Given the description of an element on the screen output the (x, y) to click on. 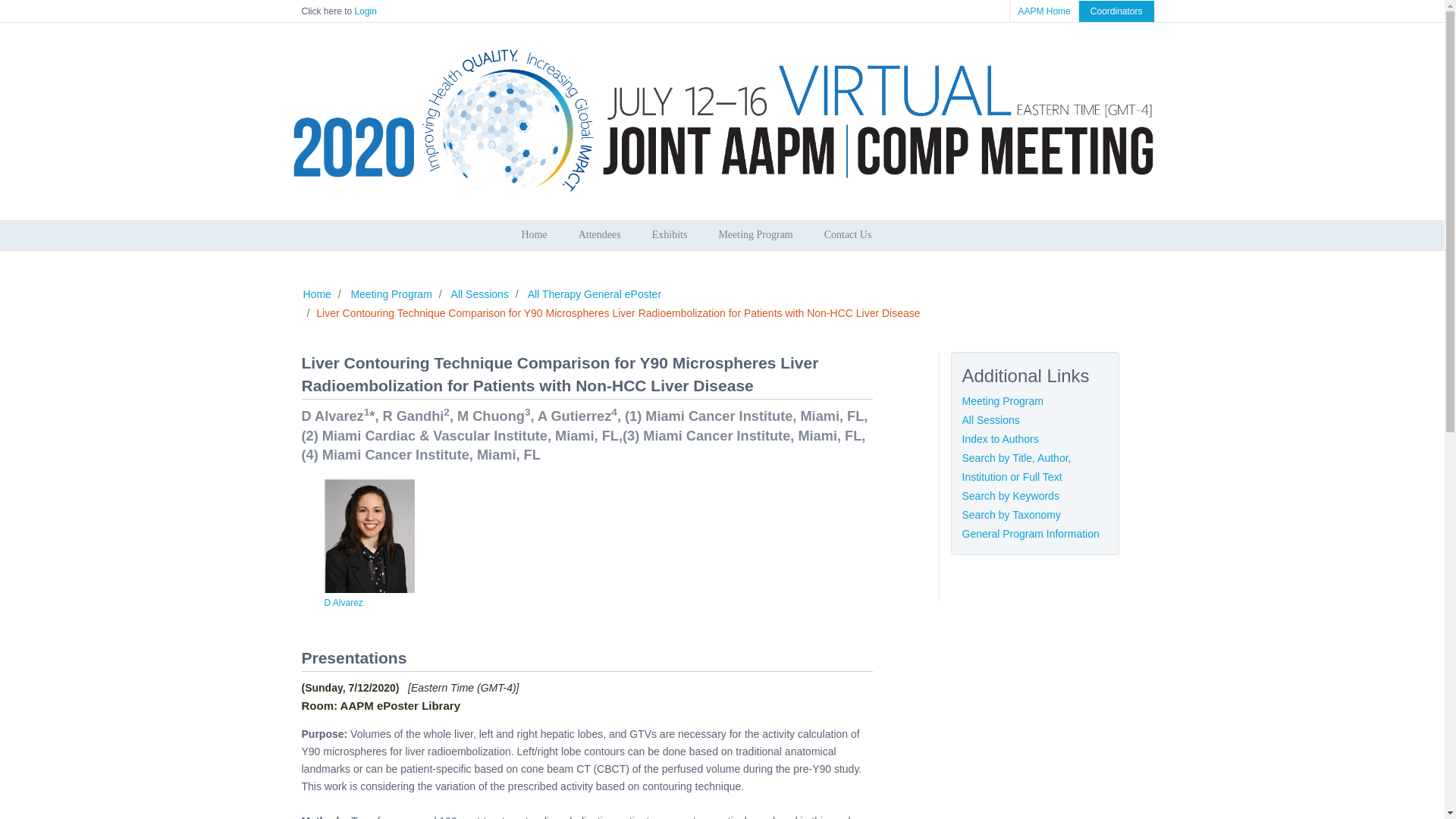
Login (366, 10)
Home (722, 235)
